Given the description of an element on the screen output the (x, y) to click on. 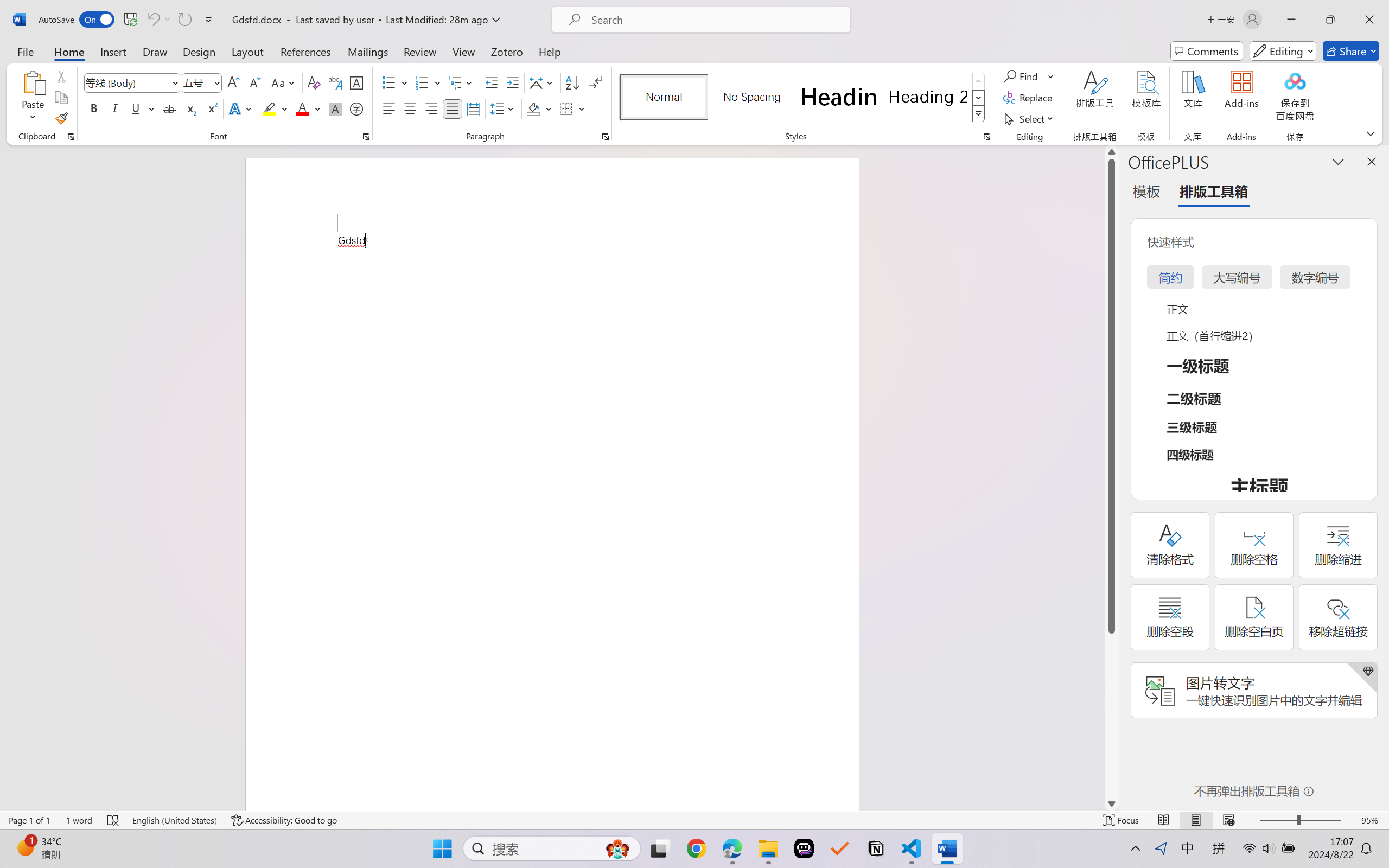
Page down (1111, 714)
